Given the description of an element on the screen output the (x, y) to click on. 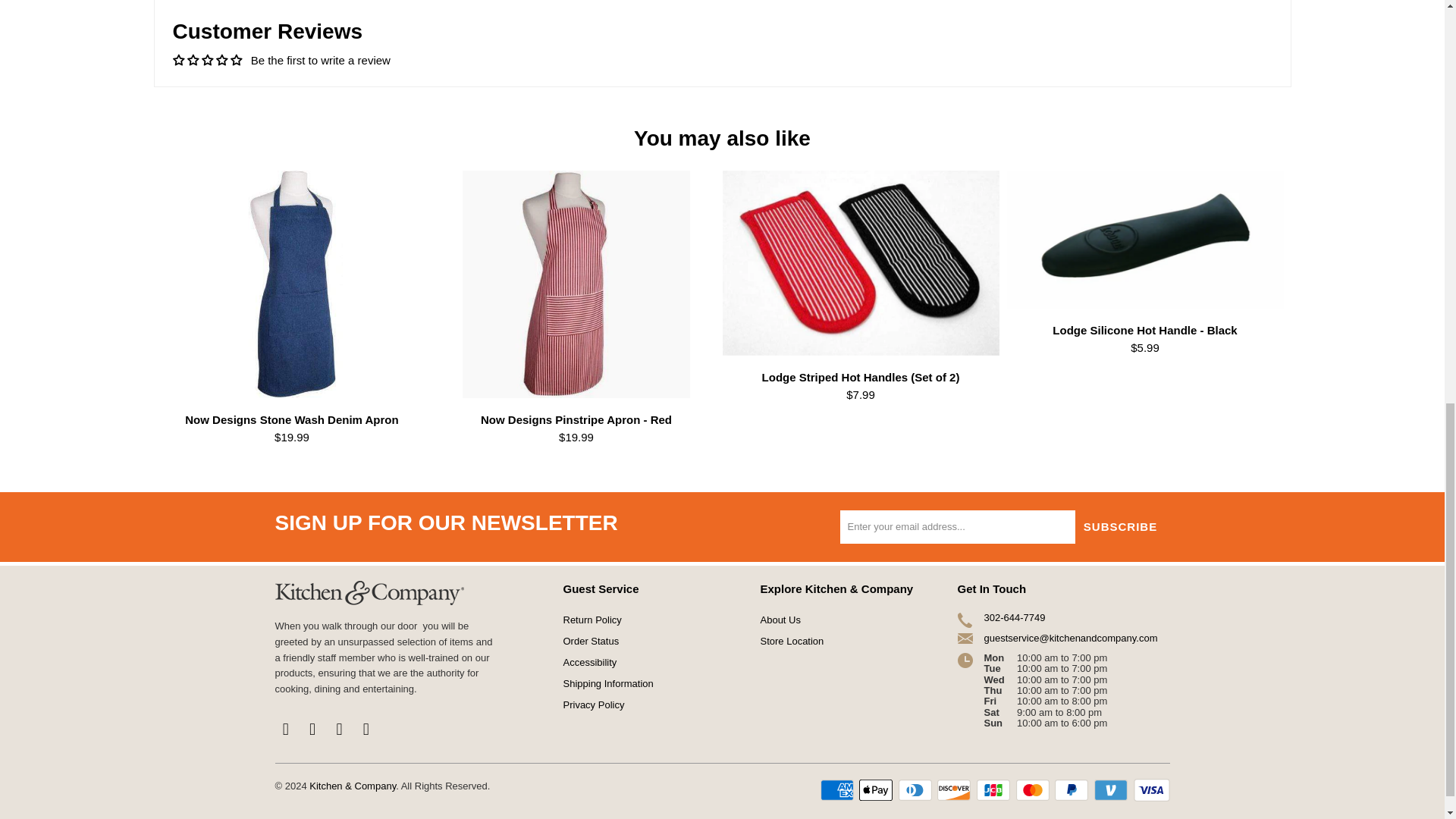
PayPal (1072, 789)
Discover (955, 789)
American Express (839, 789)
Subscribe (1120, 526)
JCB (994, 789)
Venmo (1112, 789)
Visa (1150, 789)
Apple Pay (877, 789)
Diners Club (916, 789)
Mastercard (1034, 789)
